Given the description of an element on the screen output the (x, y) to click on. 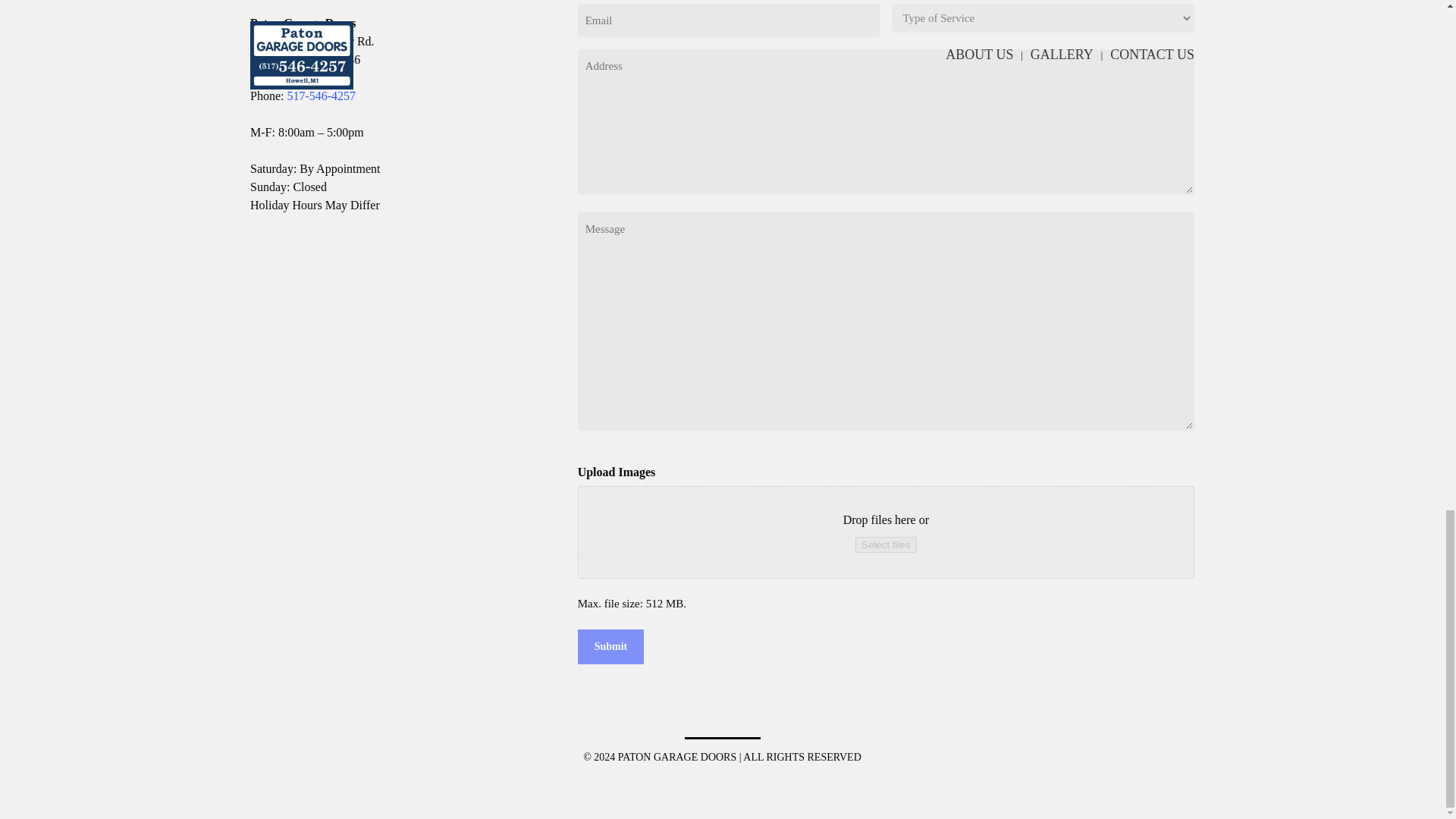
Select files (885, 544)
Submit (611, 646)
Submit (611, 646)
517-546-4257 (320, 95)
